Given the description of an element on the screen output the (x, y) to click on. 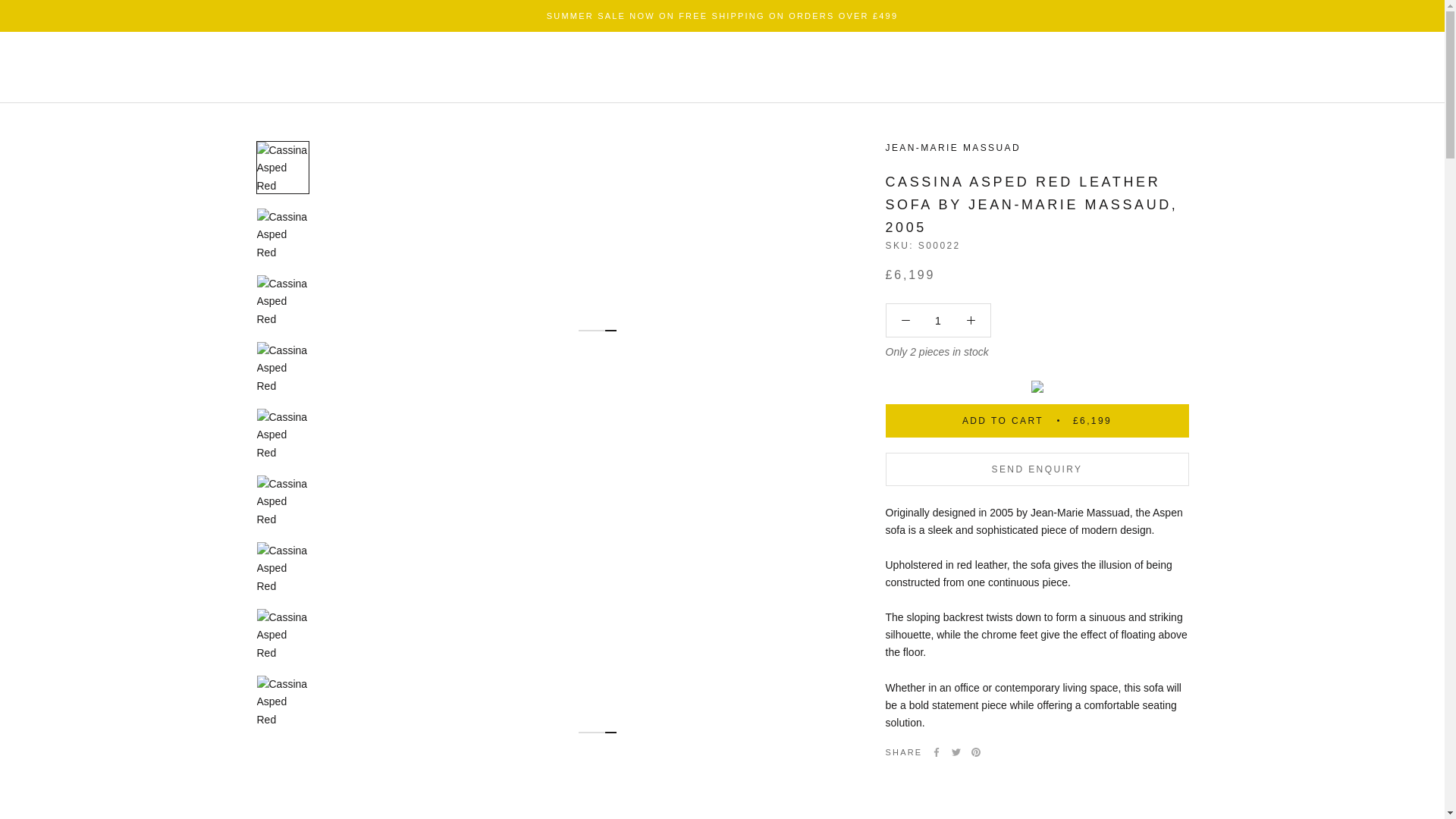
1 (938, 320)
